Given the description of an element on the screen output the (x, y) to click on. 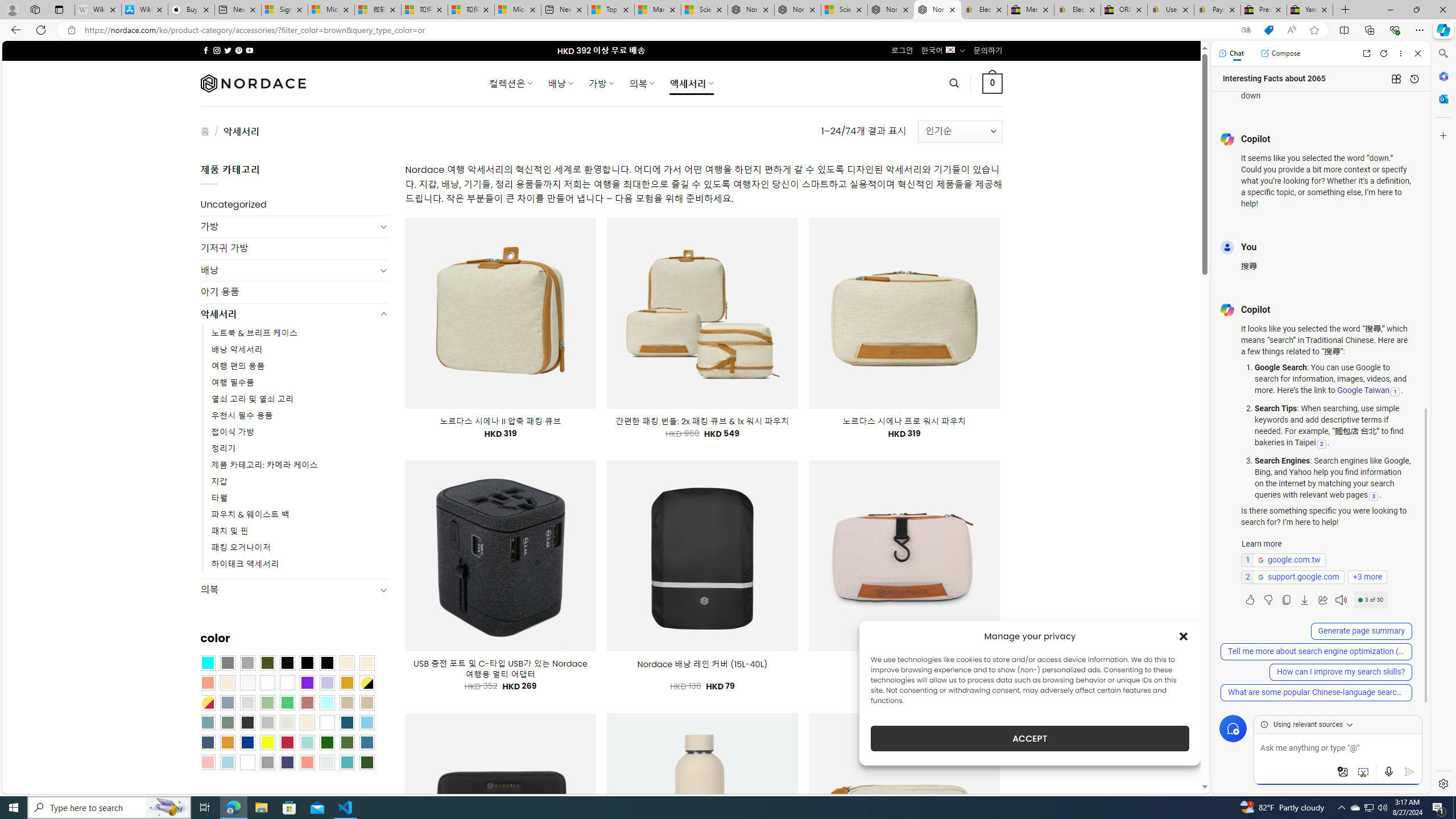
Purple (306, 681)
Dull Nickle (327, 762)
